Given the description of an element on the screen output the (x, y) to click on. 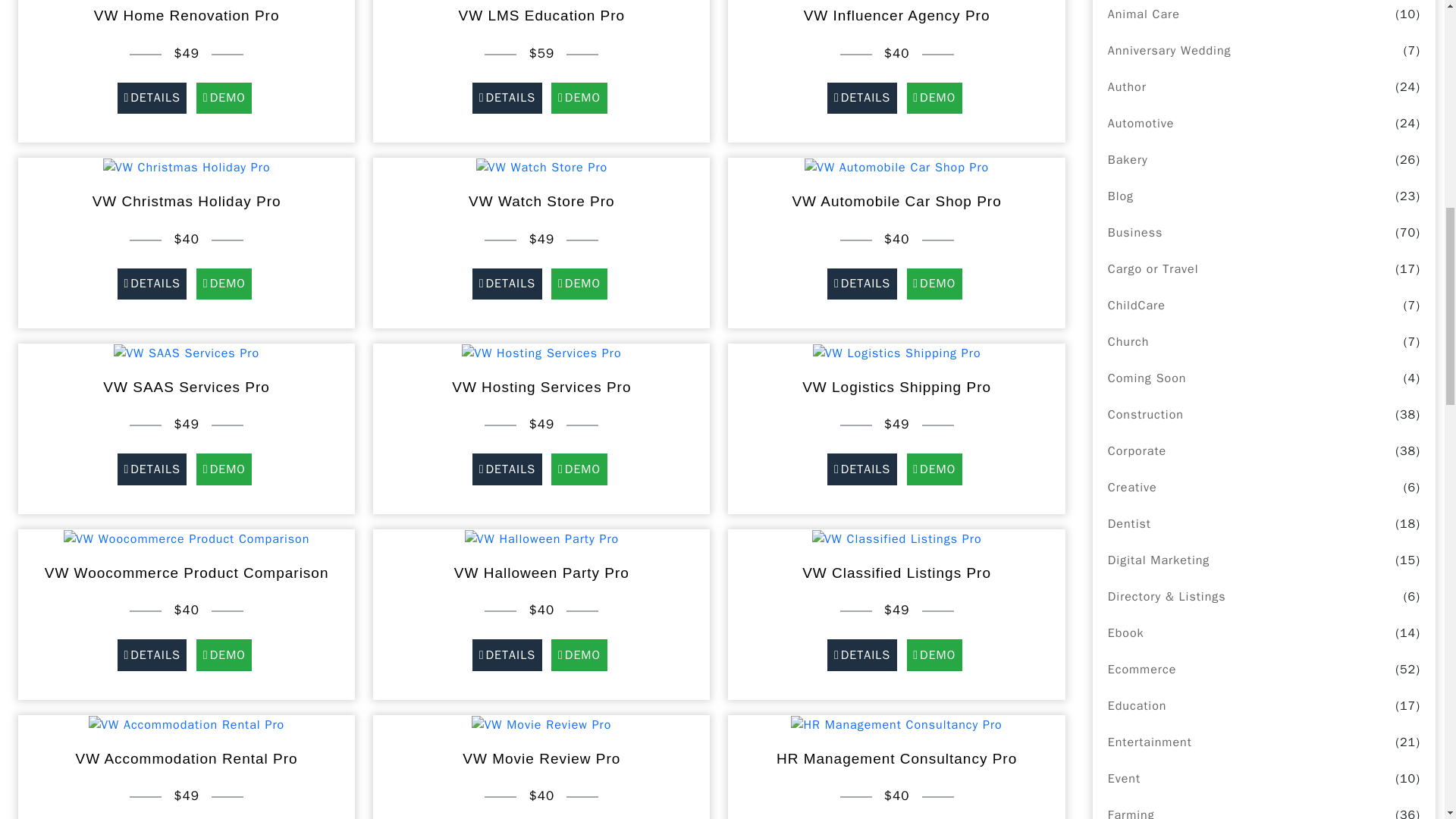
VW Watch Store Pro (542, 167)
DEMO (578, 97)
Watch Store WordPress Theme (542, 166)
VW Christmas Holiday Pro (186, 167)
DETAILS (862, 97)
DETAILS (151, 97)
DEMO (933, 97)
Christmas Holiday WordPress Theme (186, 166)
DEMO (223, 97)
DETAILS (507, 97)
